Given the description of an element on the screen output the (x, y) to click on. 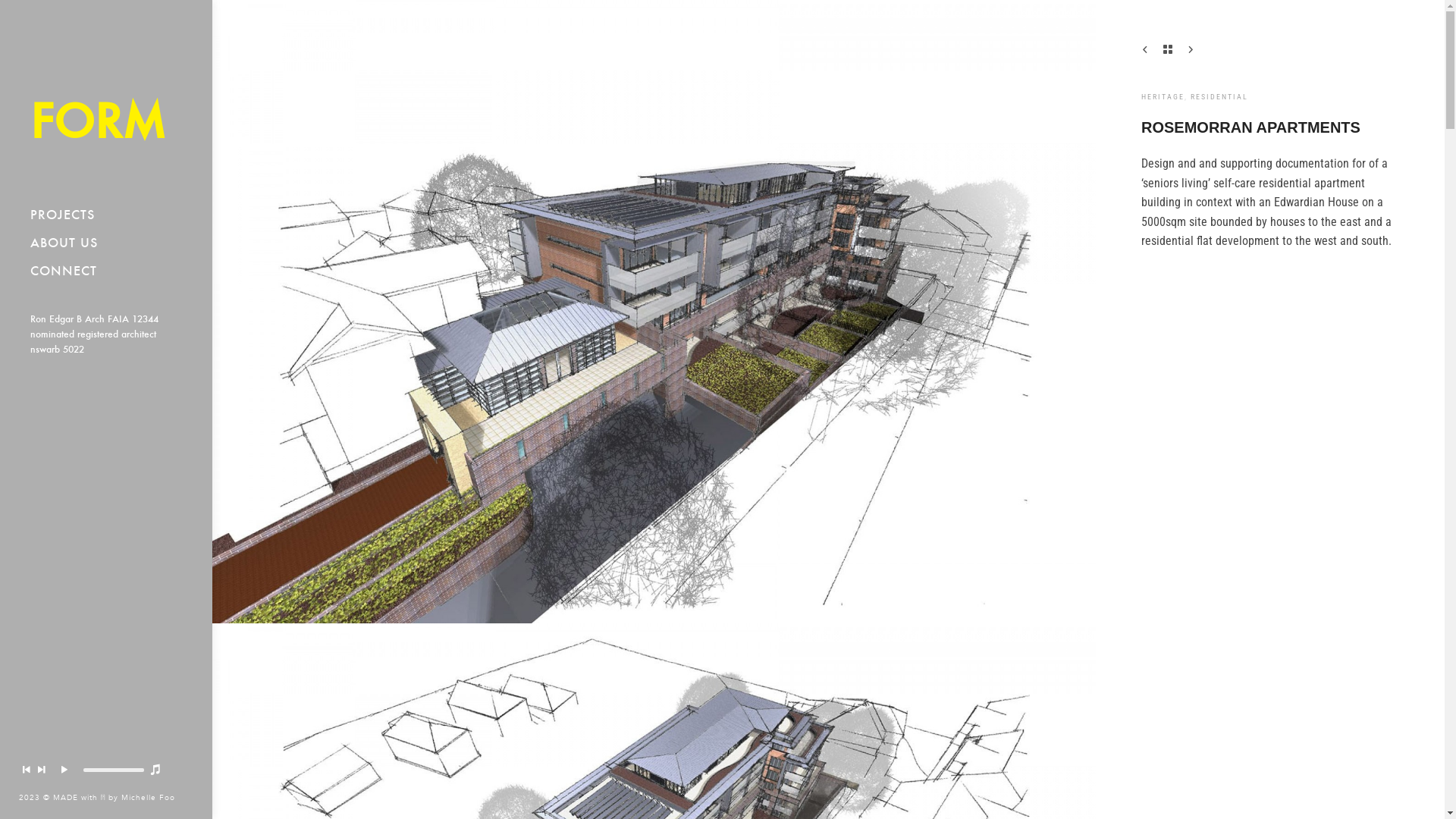
0 MAIN PIC Element type: hover (653, 312)
ABOUT US Element type: text (106, 243)
Play Element type: hover (64, 769)
RESIDENTIAL Element type: text (1219, 96)
0 MAIN PIC Element type: text (225, 21)
FORM Element type: text (106, 100)
Back to  Element type: hover (1167, 48)
34 Sandbar Place - March 7, 2016 Element type: hover (1144, 48)
Michelle Foo Element type: text (148, 797)
PROJECTS Element type: text (106, 214)
Mute Element type: hover (155, 769)
Lancer Barracks - March 7, 2016 Element type: hover (1190, 48)
HERITAGE Element type: text (1162, 96)
CONNECT Element type: text (106, 271)
